Given the description of an element on the screen output the (x, y) to click on. 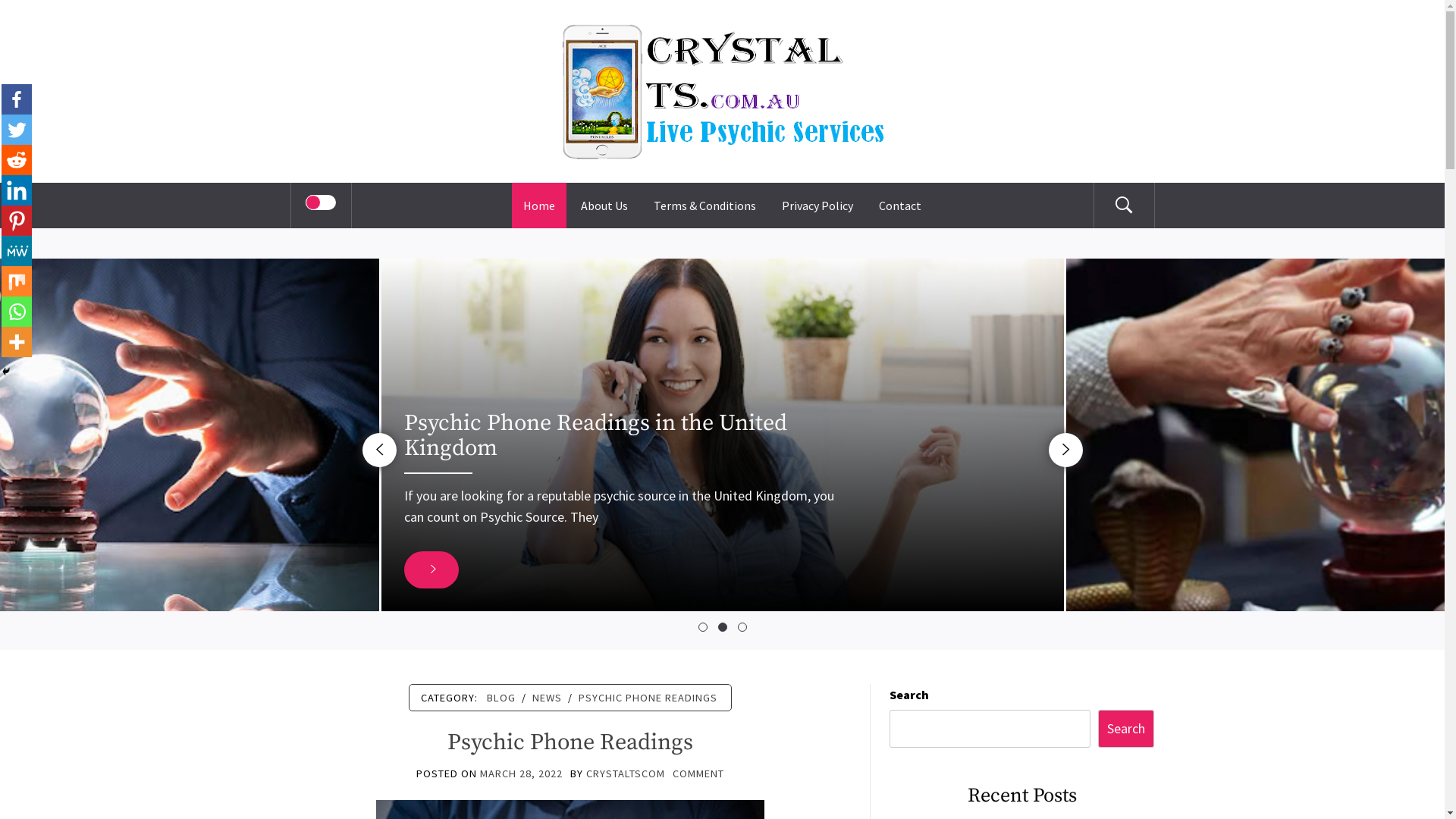
Reddit Element type: hover (16, 159)
Twitter Element type: hover (16, 129)
Privacy Policy Element type: text (817, 205)
CRYSTALTSCOM Element type: text (625, 773)
Crystalts Element type: text (721, 42)
PSYCHIC PHONE READINGS Element type: text (647, 697)
Facebook Element type: hover (16, 99)
Pinterest Element type: hover (16, 220)
Whatsapp Element type: hover (16, 311)
Terms & Conditions Element type: text (704, 205)
Search Element type: text (1126, 728)
COMMENT Element type: text (698, 773)
Search Element type: text (797, 33)
Home Element type: text (538, 205)
Hide Element type: hover (6, 371)
NEWS Element type: text (546, 697)
MeWe Element type: hover (16, 250)
More Element type: hover (16, 341)
Mix Element type: hover (16, 281)
MARCH 28, 2022 Element type: text (521, 773)
BLOG Element type: text (500, 697)
Linkedin Element type: hover (16, 190)
Contact Element type: text (899, 205)
About Us Element type: text (604, 205)
Psychic Phone Readings Element type: text (570, 742)
